Given the description of an element on the screen output the (x, y) to click on. 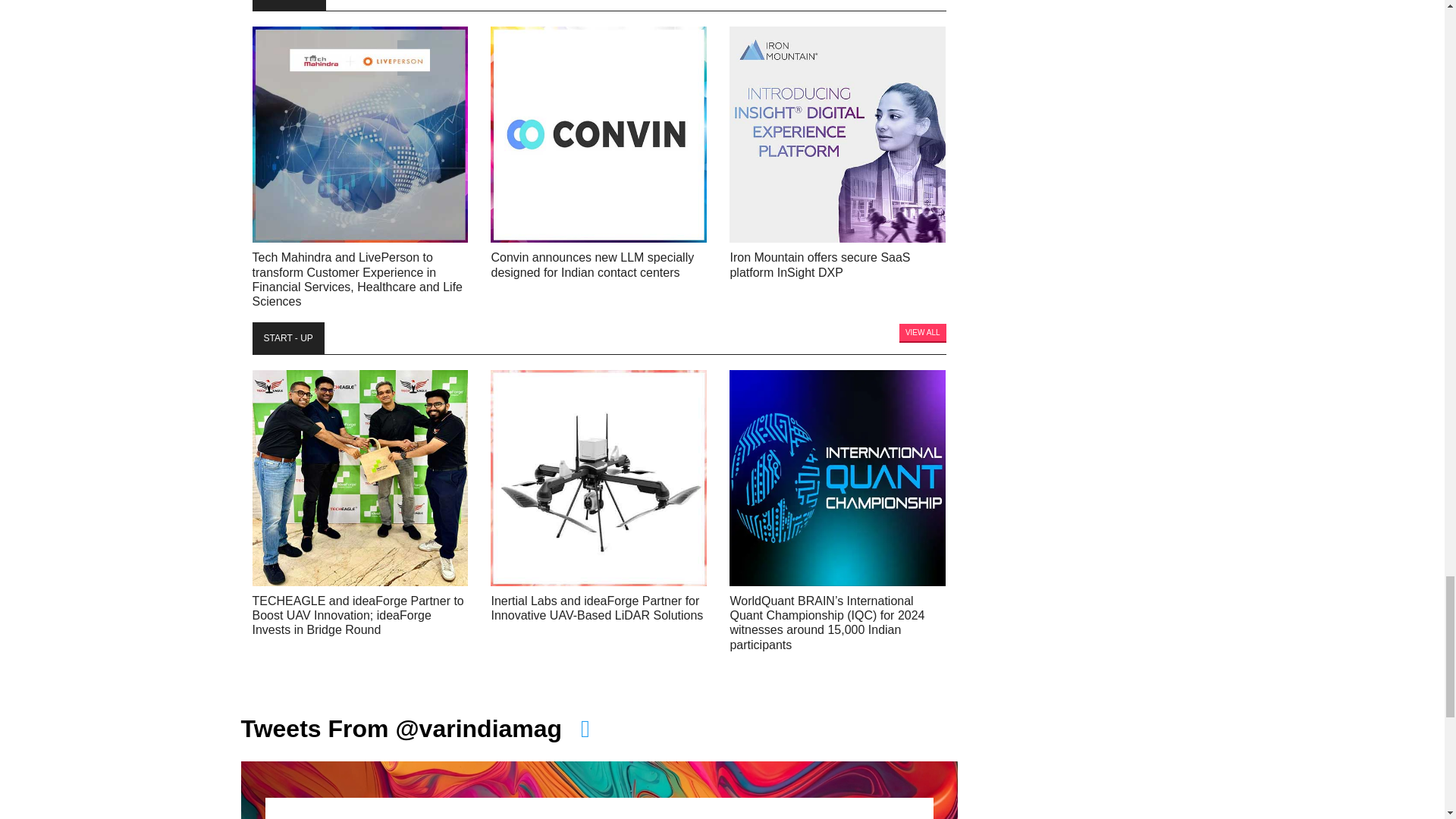
Iron Mountain offers secure SaaS platform InSight DXP (836, 134)
